Given the description of an element on the screen output the (x, y) to click on. 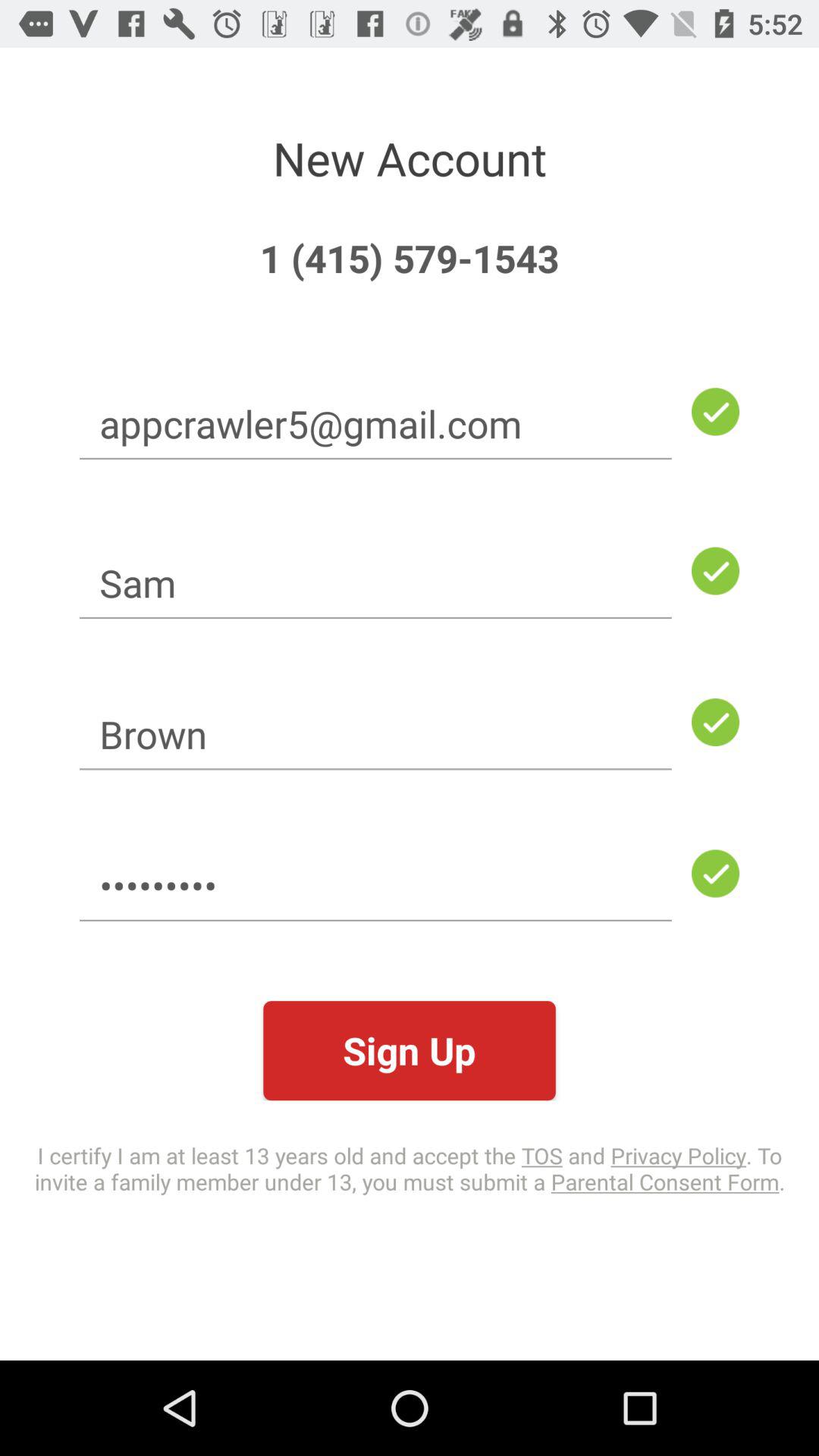
click i certify i item (409, 1168)
